Given the description of an element on the screen output the (x, y) to click on. 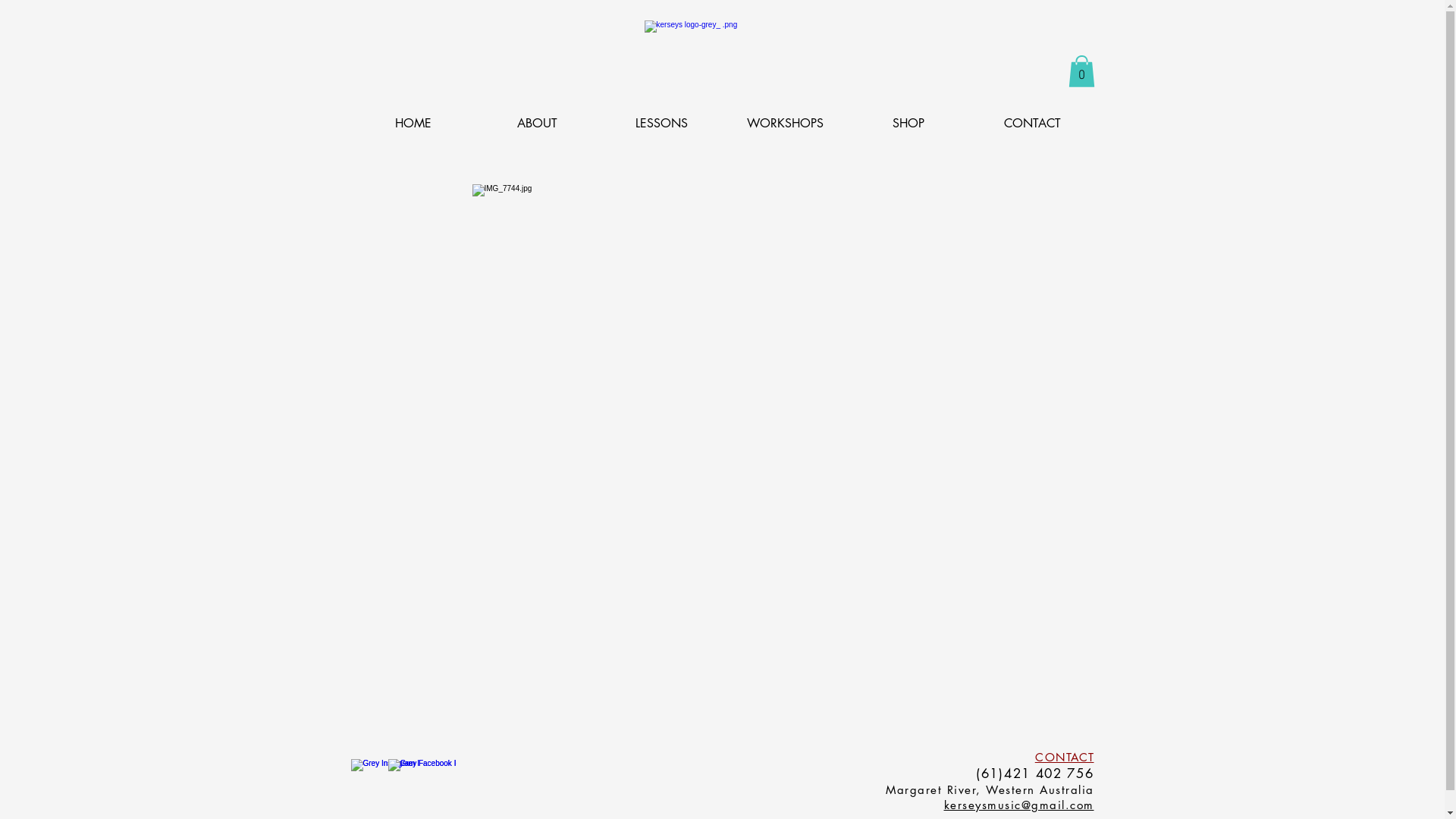
SHOP Element type: text (907, 122)
CONTACT Element type: text (1064, 756)
(61)421 402 756 Element type: text (1034, 774)
CONTACT Element type: text (1032, 122)
0 Element type: text (1080, 71)
ABOUT Element type: text (536, 122)
LESSONS Element type: text (660, 122)
HOME Element type: text (412, 122)
WORKSHOPS Element type: text (785, 122)
kerseysmusic@gmail.com Element type: text (1018, 805)
